Given the description of an element on the screen output the (x, y) to click on. 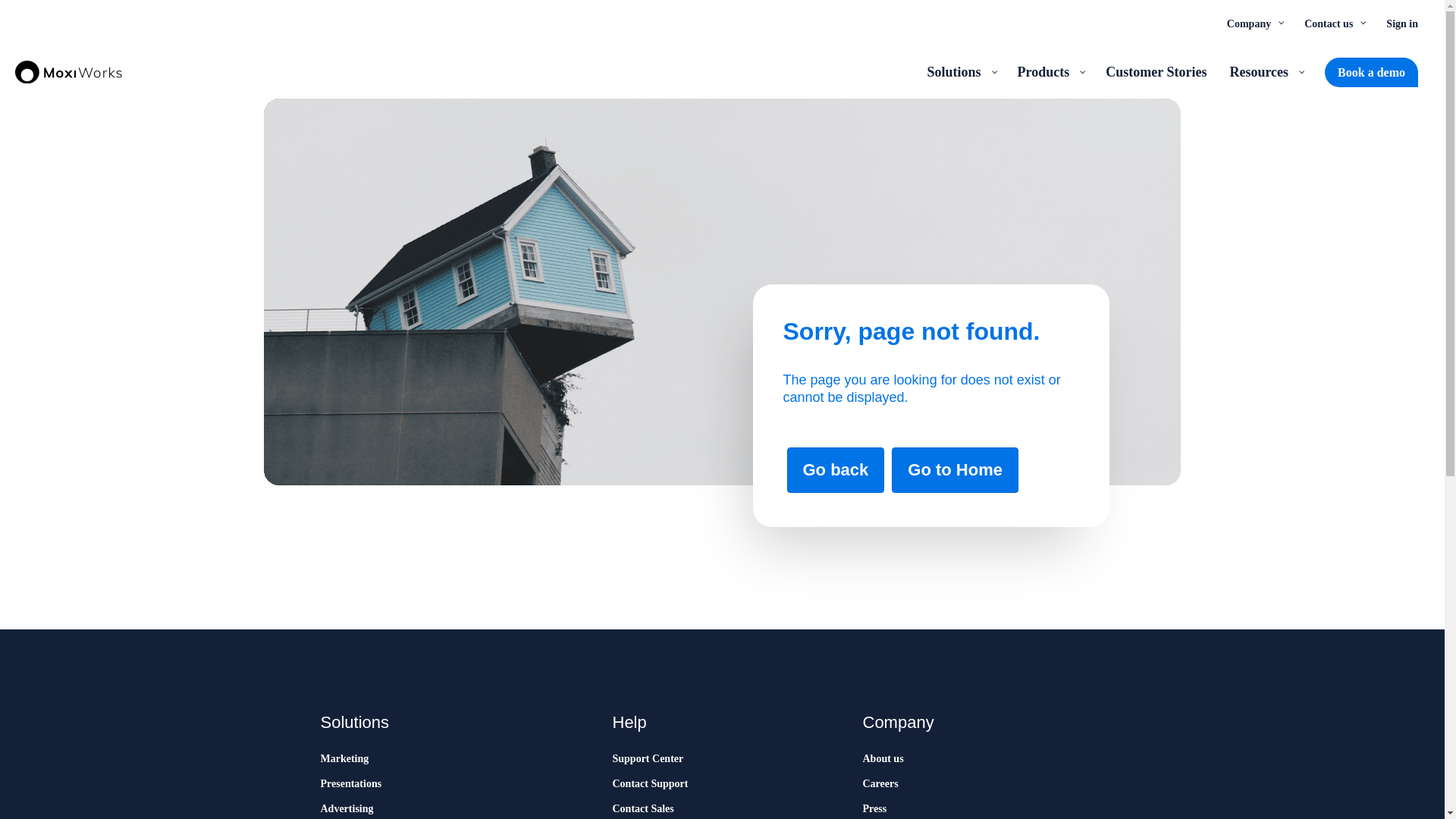
Solutions (960, 72)
Contact us (1333, 22)
Products (1050, 72)
Sign in (1401, 22)
Company (1253, 22)
